Given the description of an element on the screen output the (x, y) to click on. 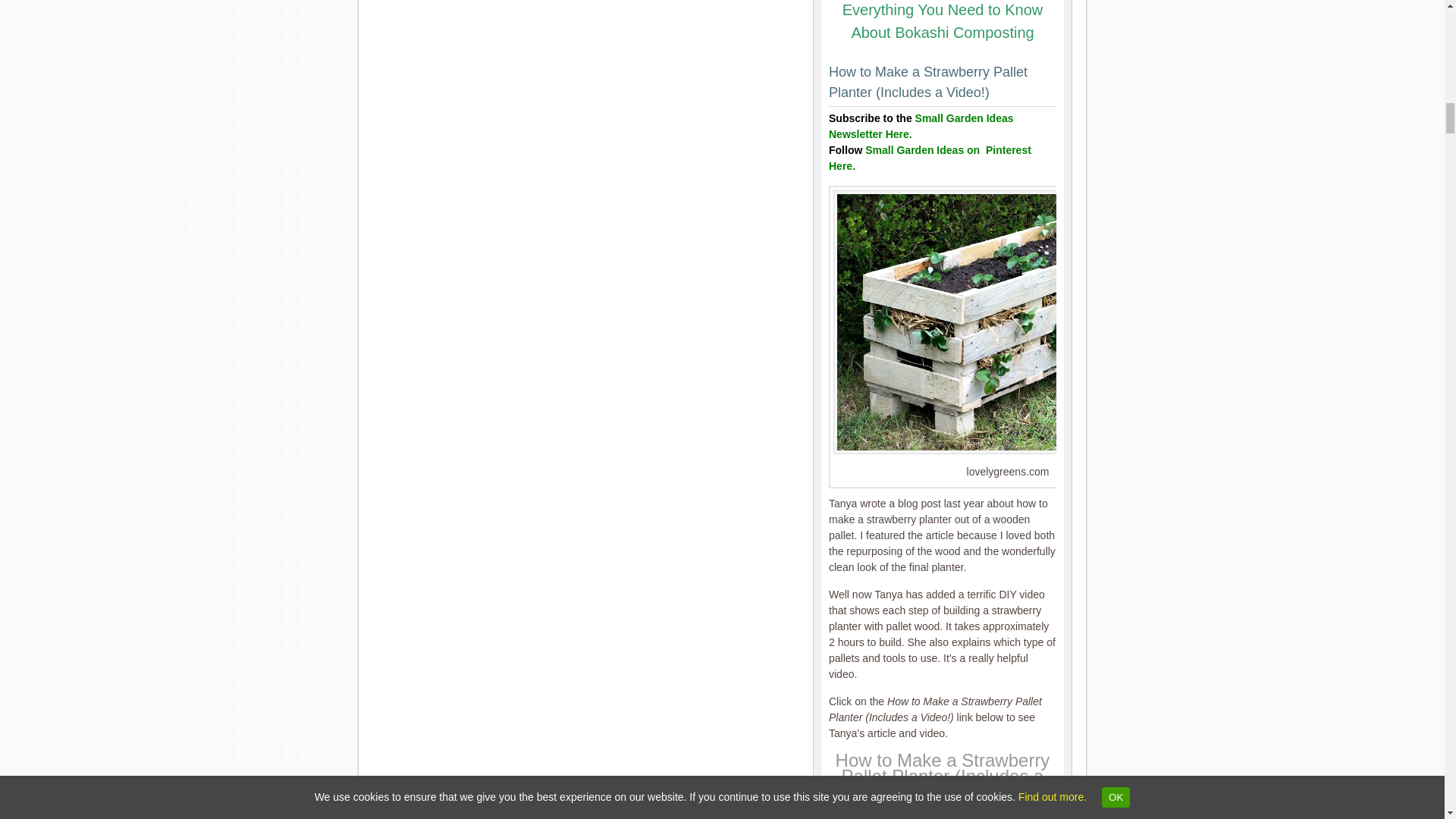
Pinterest (929, 157)
Everything You Need to Know About Bokashi Composting (943, 20)
Everything You Need to Know About Bokashi Composting (943, 20)
Small Garden Ideas on  Pinterest Here. (929, 157)
Small Garden Ideas Newsletter Here. (920, 126)
